Given the description of an element on the screen output the (x, y) to click on. 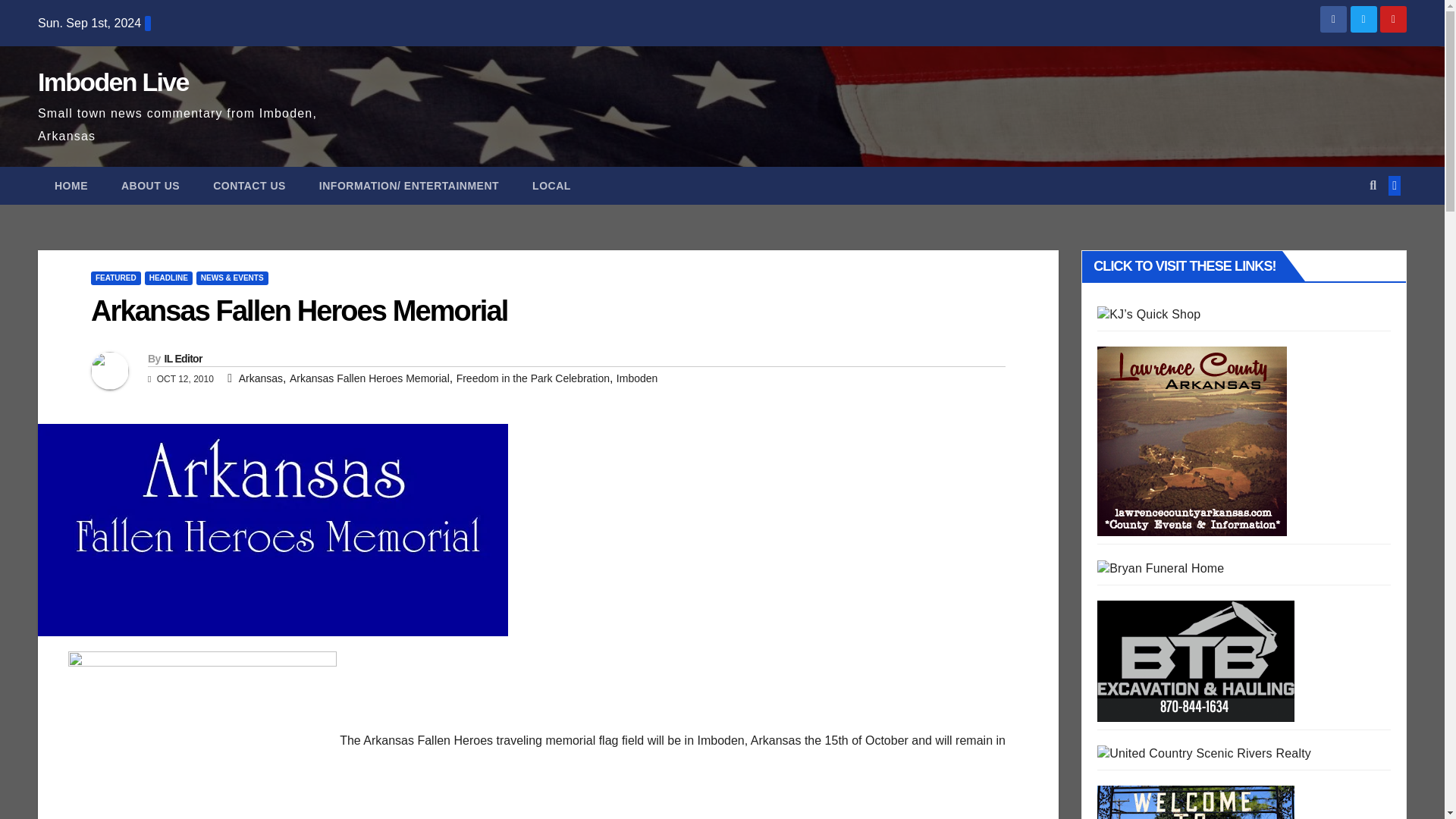
HOME (70, 185)
LOCAL (551, 185)
Permalink to: Arkansas Fallen Heroes Memorial (298, 310)
ABOUT US (150, 185)
official city of imboden arkansas website (1195, 802)
aboutus (202, 735)
Imboden Live (113, 81)
CONTACT US (249, 185)
Home (70, 185)
